Given the description of an element on the screen output the (x, y) to click on. 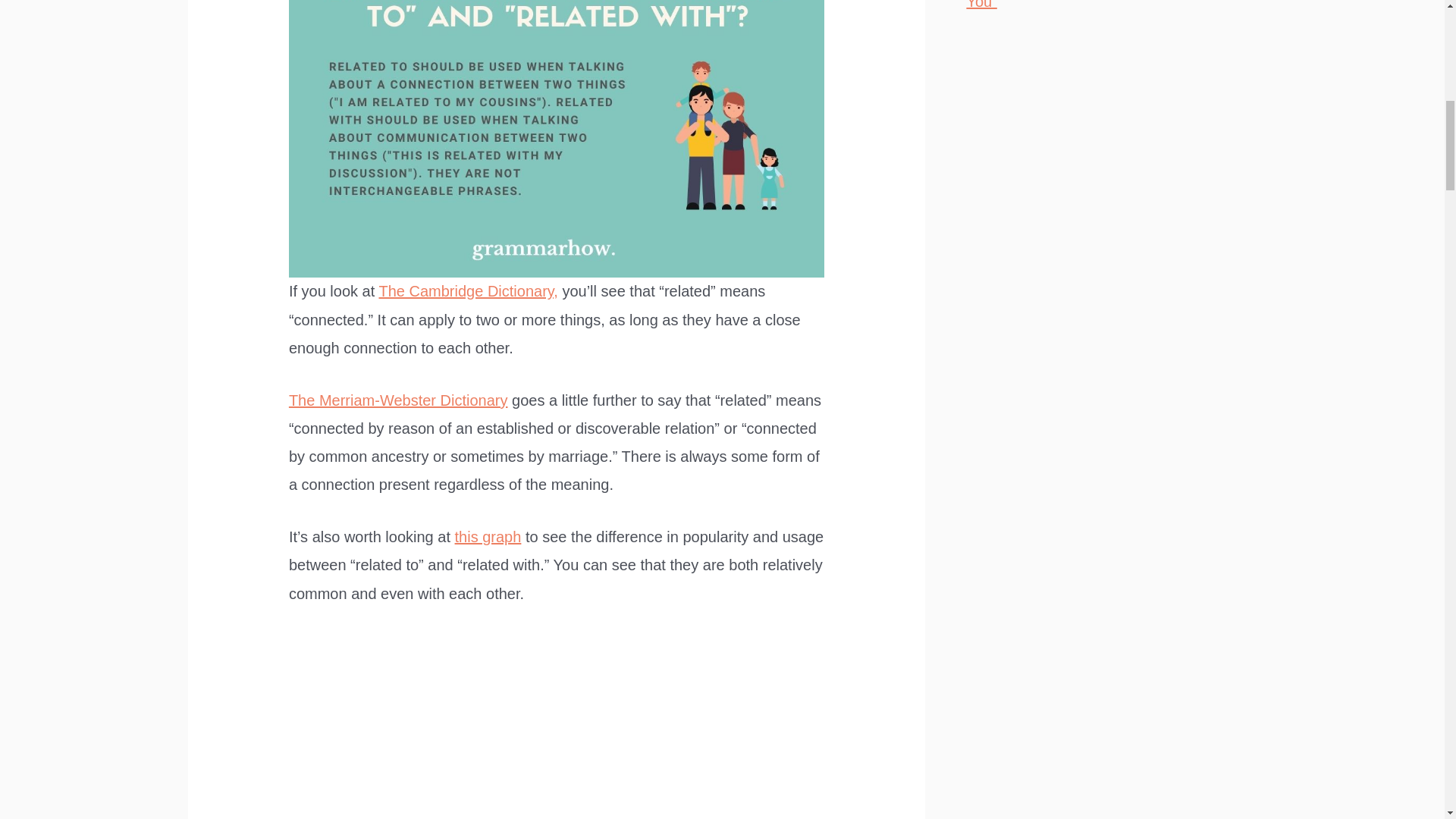
this graph (487, 536)
The Merriam-Webster Dictionary (398, 400)
The Cambridge Dictionary, (467, 290)
